Given the description of an element on the screen output the (x, y) to click on. 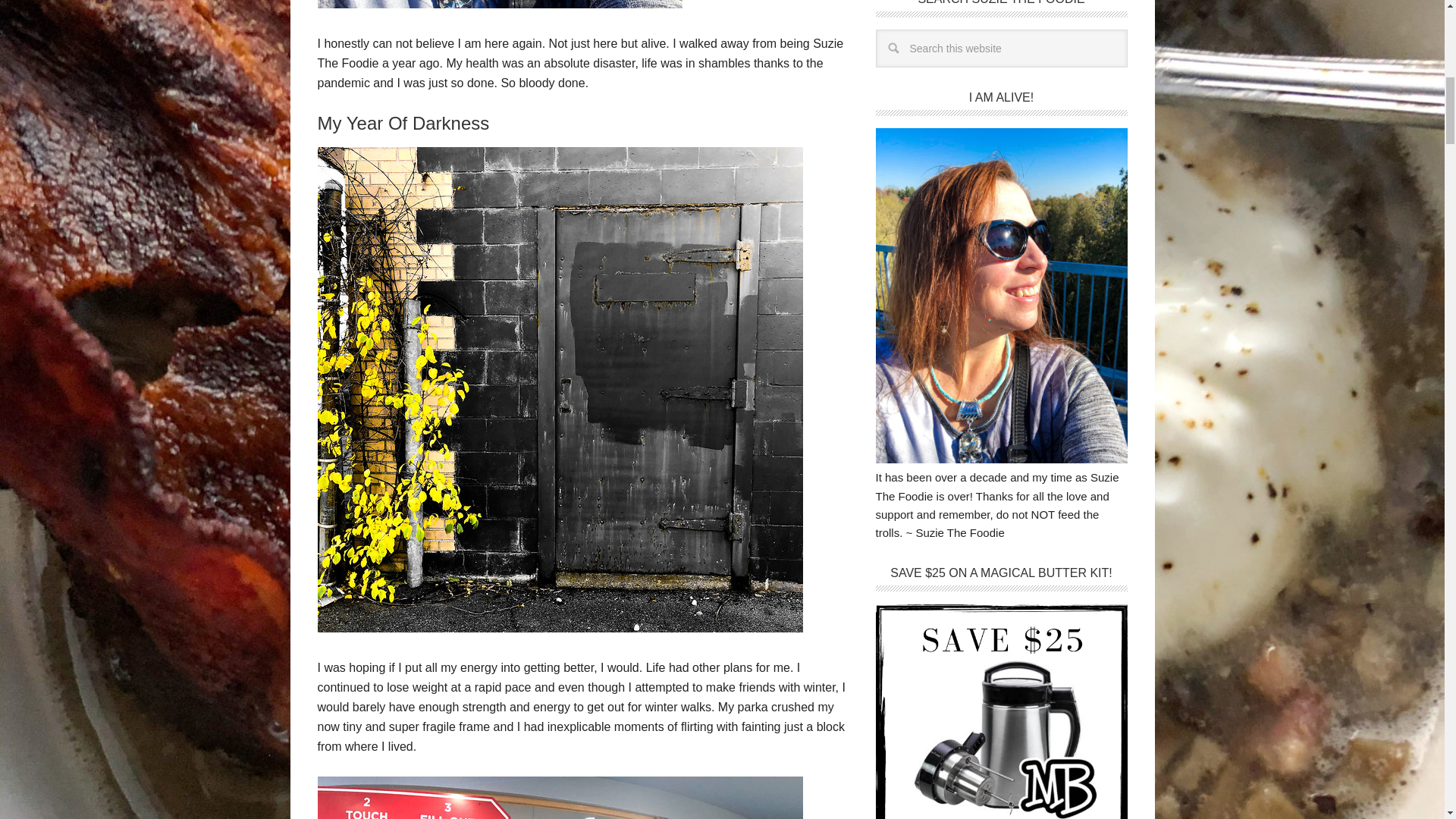
Suzie The Foodie Is Back! (559, 627)
Suzie The Foodie Is Back! (499, 5)
